Given the description of an element on the screen output the (x, y) to click on. 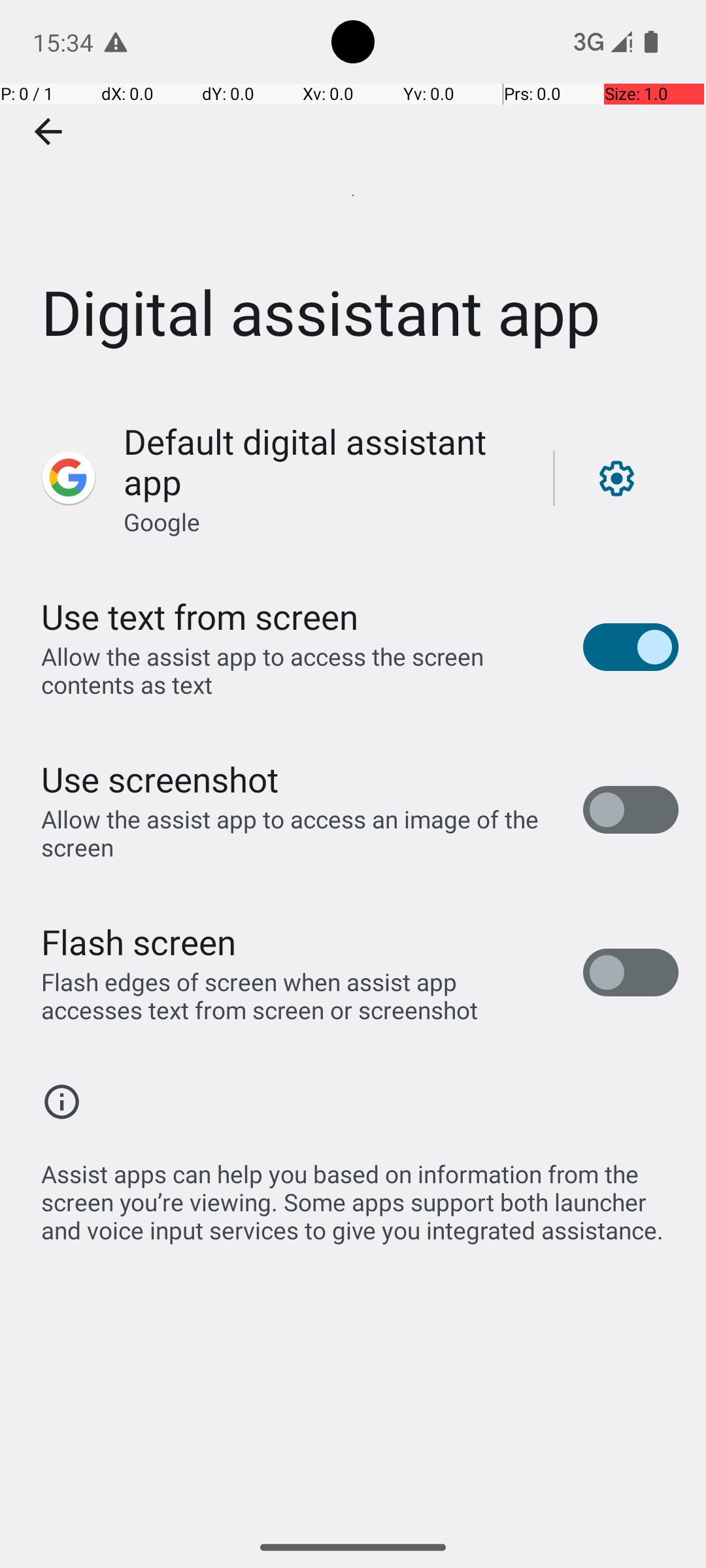
Digital assistant app Element type: android.widget.FrameLayout (353, 195)
Default digital assistant app Element type: android.widget.TextView (324, 461)
Google Element type: android.widget.TextView (161, 521)
Use text from screen Element type: android.widget.TextView (199, 616)
Allow the assist app to access the screen contents as text Element type: android.widget.TextView (298, 670)
Use screenshot Element type: android.widget.TextView (159, 778)
Allow the assist app to access an image of the screen Element type: android.widget.TextView (298, 832)
Flash screen Element type: android.widget.TextView (138, 941)
Flash edges of screen when assist app accesses text from screen or screenshot Element type: android.widget.TextView (298, 995)
Assist apps can help you based on information from the screen you’re viewing. Some apps support both launcher and voice input services to give you integrated assistance. Element type: android.widget.TextView (359, 1194)
